Given the description of an element on the screen output the (x, y) to click on. 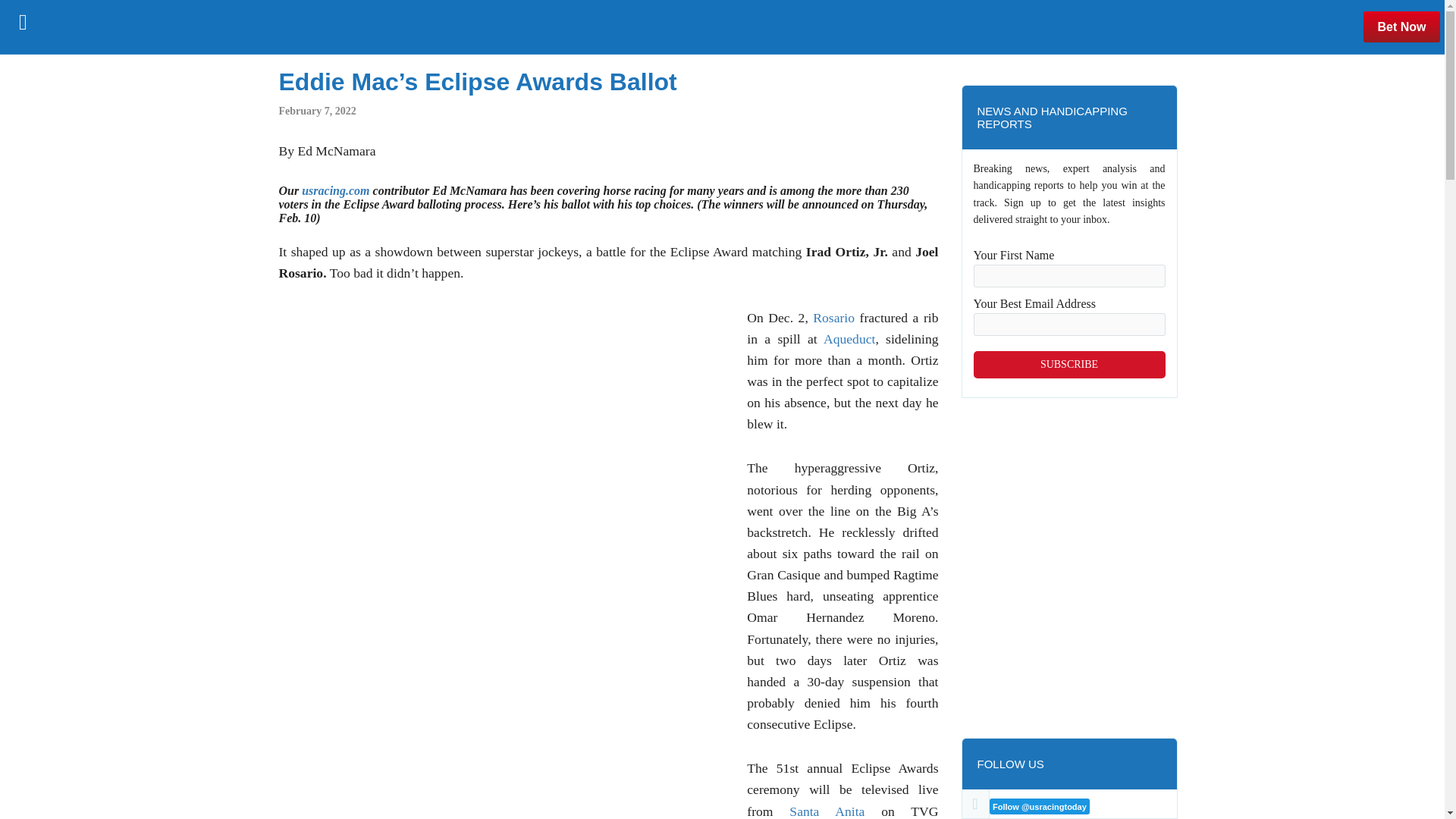
usracing.com (335, 190)
Santa Anita (826, 811)
Rosario (833, 317)
Bet Now (1400, 26)
Subscribe (1070, 364)
Aqueduct (849, 338)
